Given the description of an element on the screen output the (x, y) to click on. 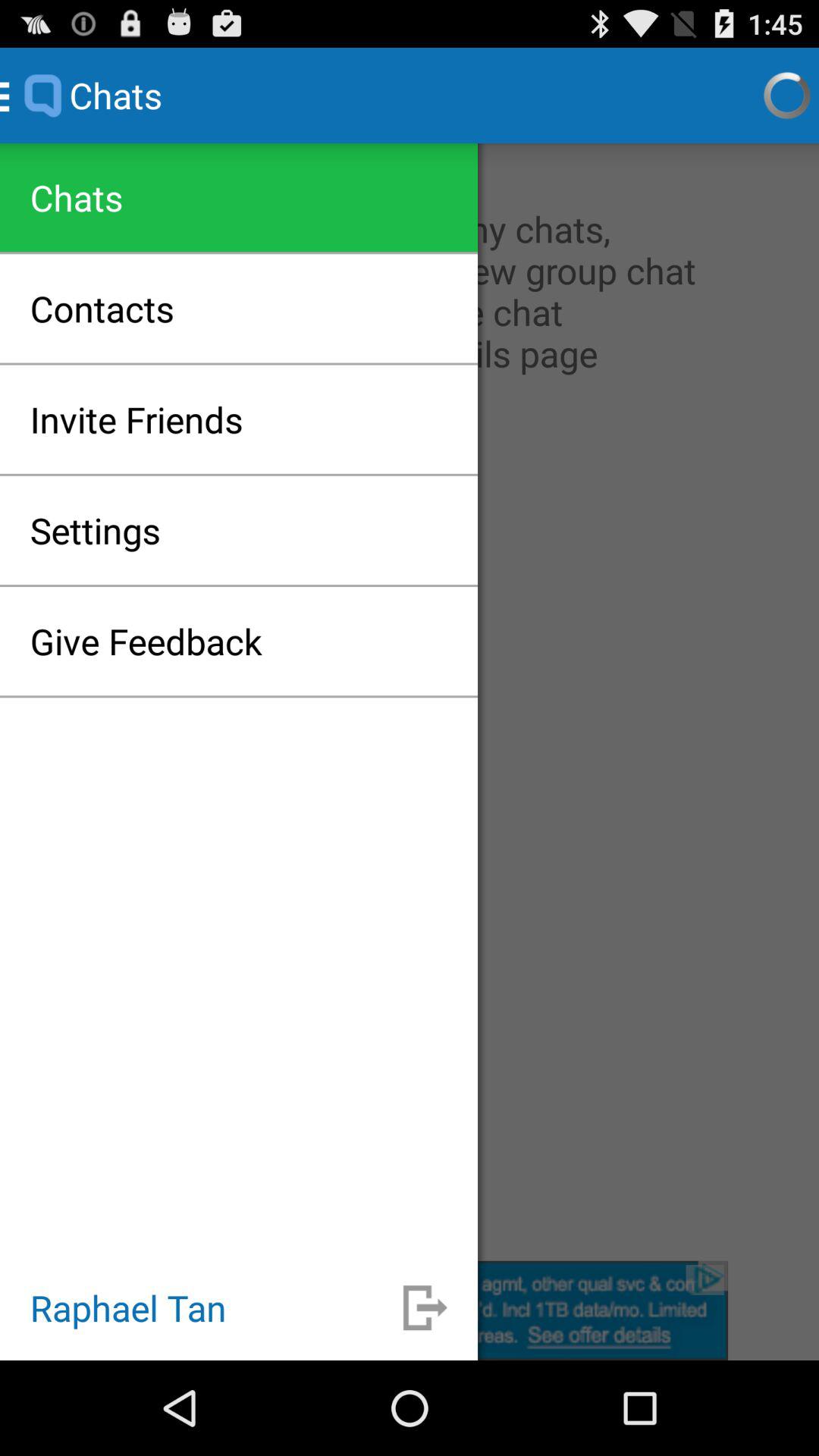
click item below the invite friends app (95, 530)
